Given the description of an element on the screen output the (x, y) to click on. 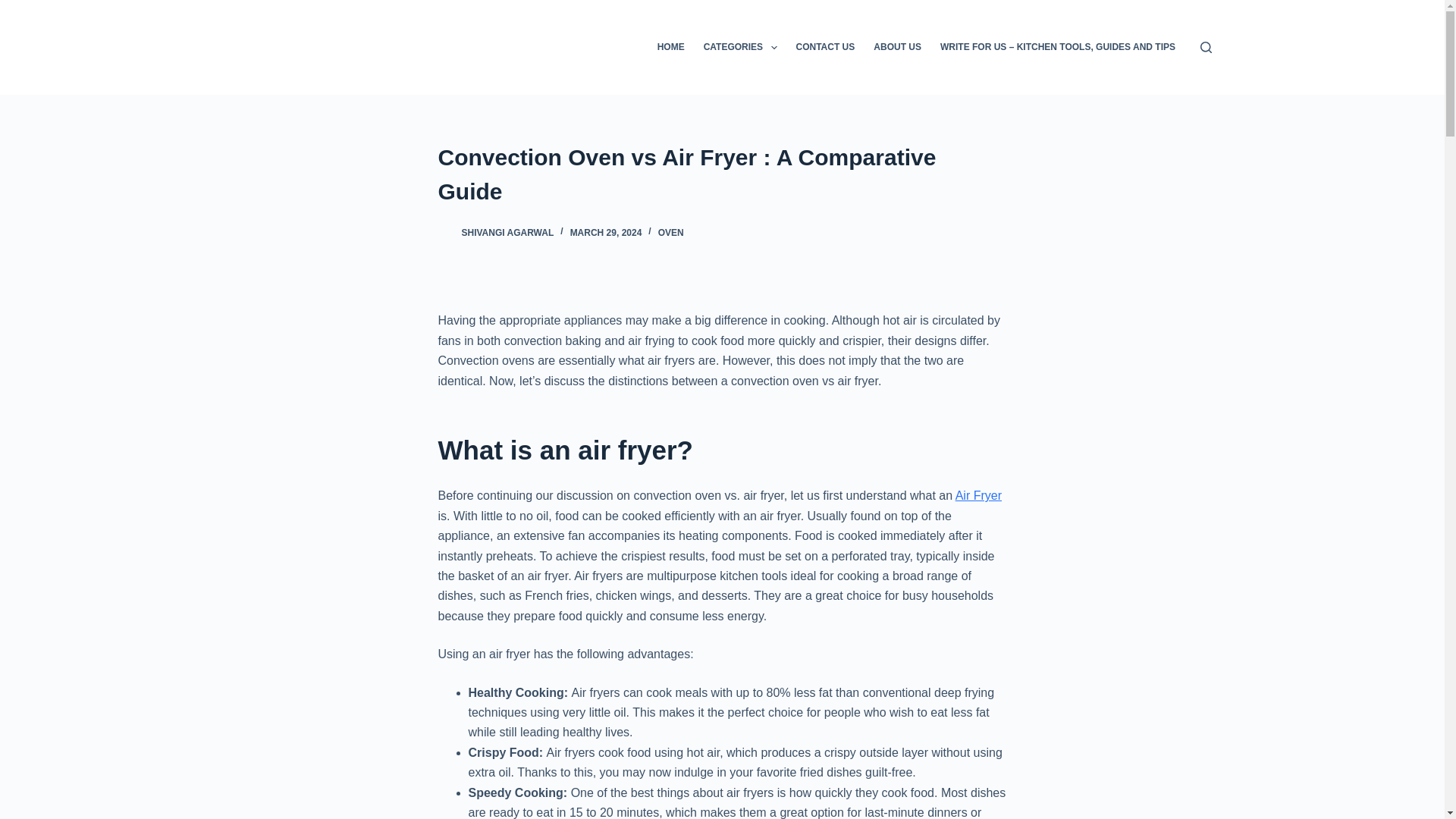
Skip to content (15, 7)
CATEGORIES (740, 47)
Posts by Shivangi Agarwal (507, 232)
Convection Oven vs Air Fryer : A Comparative Guide (722, 174)
